Given the description of an element on the screen output the (x, y) to click on. 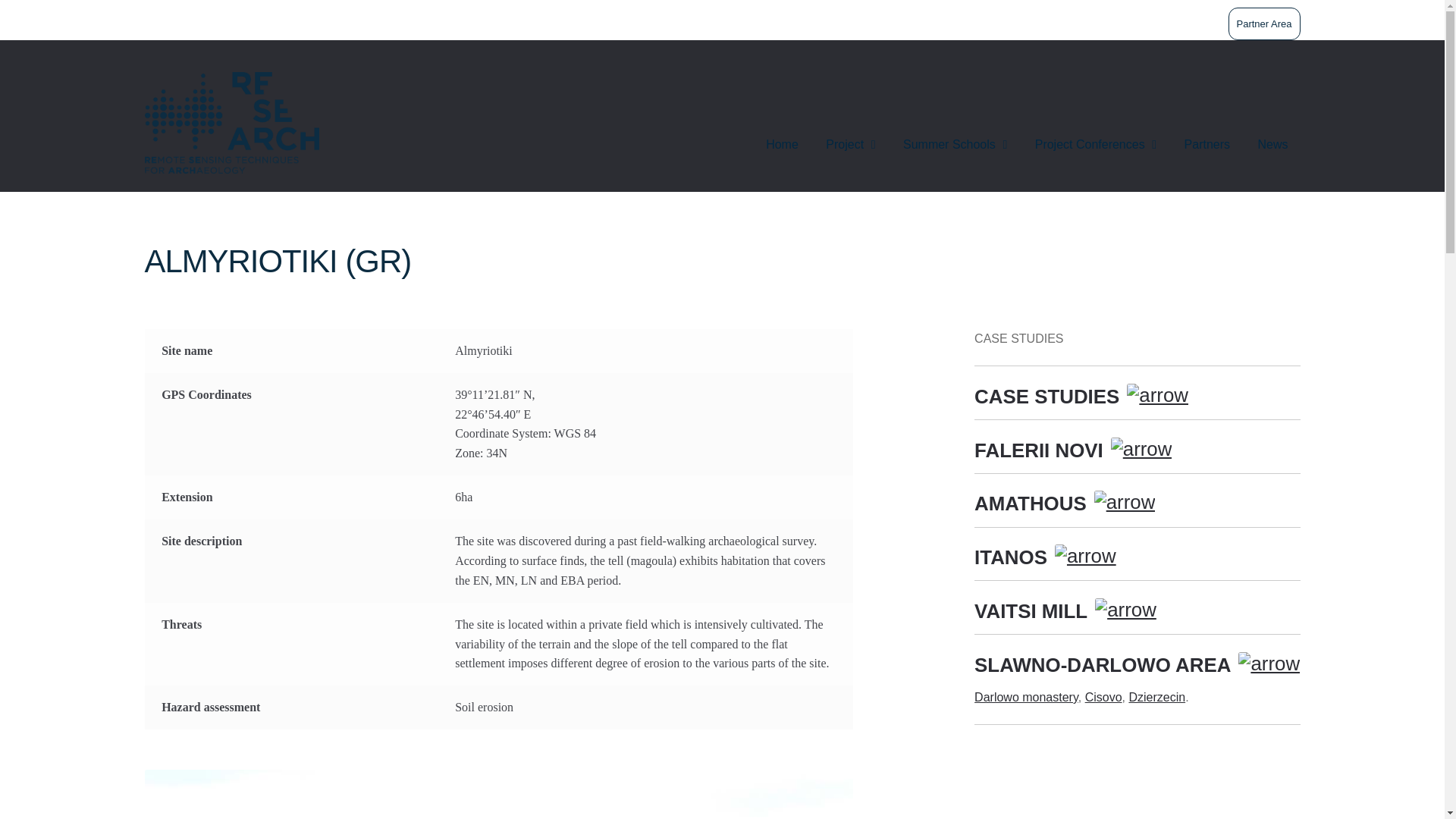
Home (782, 144)
Project Conferences (1096, 144)
Summer Schools (955, 144)
Partners (1206, 144)
Partner Area (1263, 23)
News (1272, 144)
Project (849, 144)
